Given the description of an element on the screen output the (x, y) to click on. 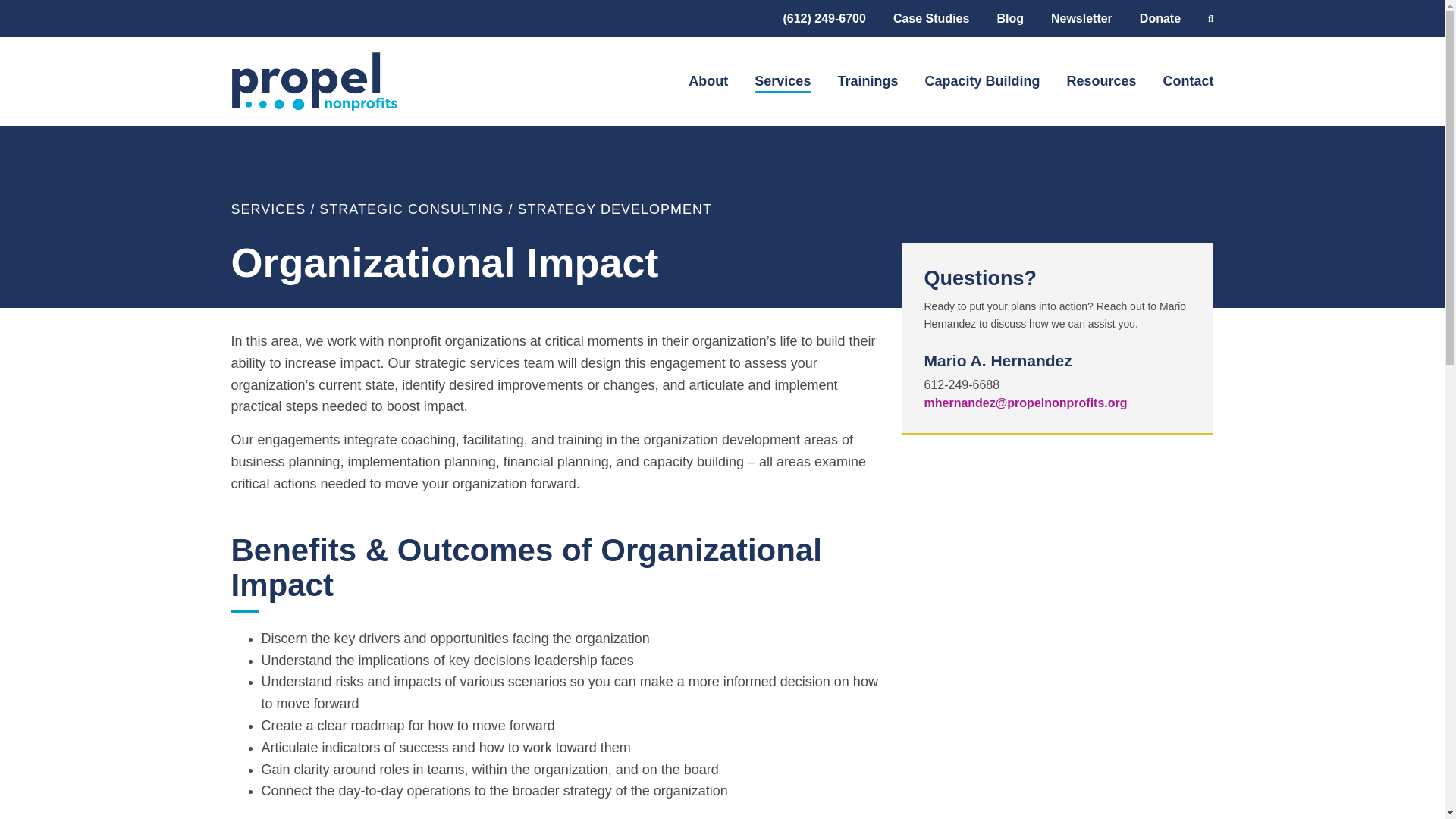
Resources (1100, 81)
Go to Services. (267, 209)
Contact (1188, 81)
Blog (1009, 18)
Trainings (867, 81)
Case Studies (931, 18)
Capacity Building (981, 81)
Services (782, 81)
Donate (1160, 18)
Go to Strategy Development. (614, 209)
Newsletter (1081, 18)
About (708, 81)
Go to Strategic Consulting. (410, 209)
